Given the description of an element on the screen output the (x, y) to click on. 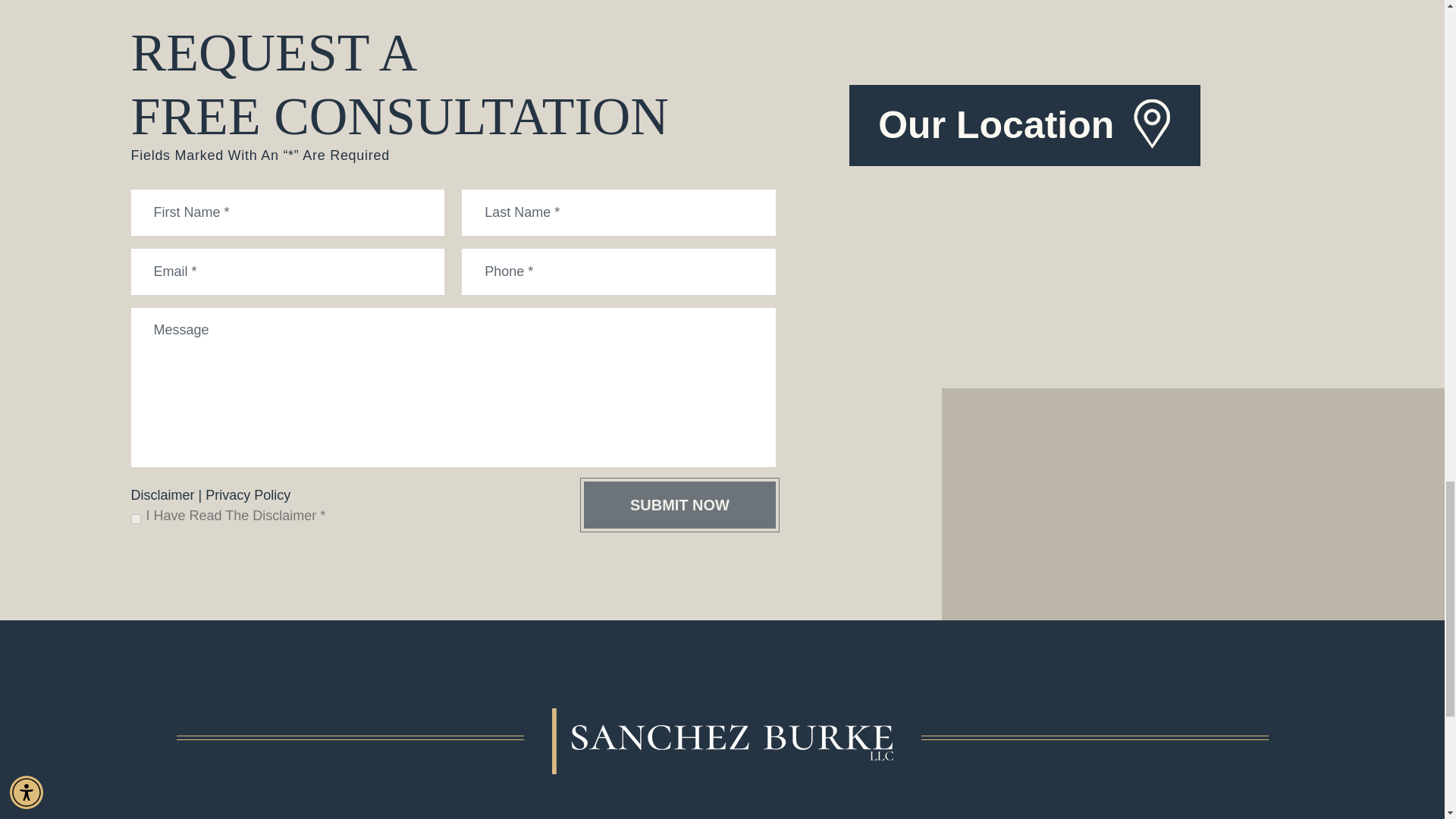
Submit Now (679, 504)
